Given the description of an element on the screen output the (x, y) to click on. 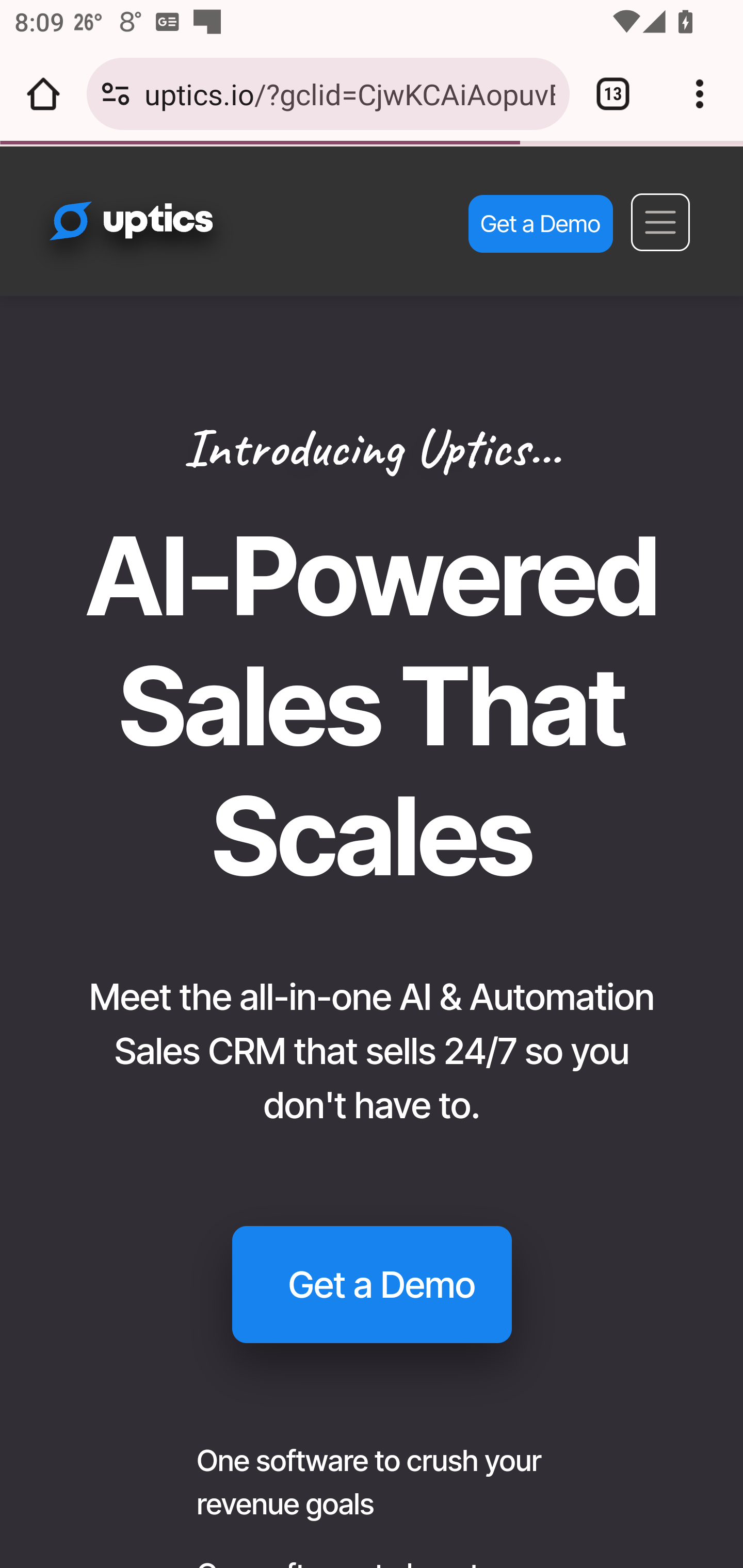
Open the home page (43, 93)
Connection is secure (115, 93)
Switch or close tabs (612, 93)
Customize and control Google Chrome (699, 93)
logo (167, 231)
Toggle navigation (660, 221)
